Given the description of an element on the screen output the (x, y) to click on. 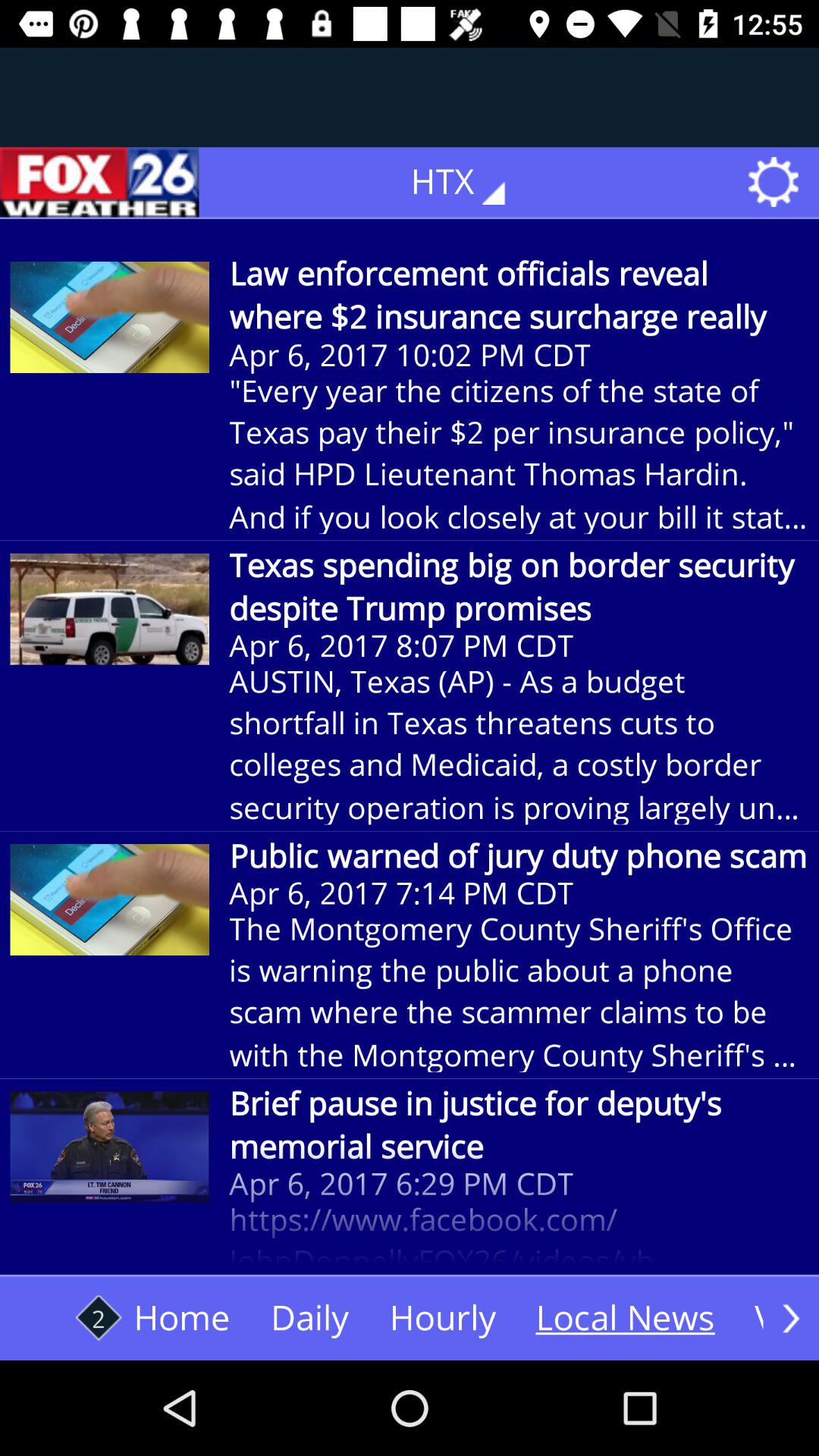
tap icon to the left of the htx (99, 182)
